Given the description of an element on the screen output the (x, y) to click on. 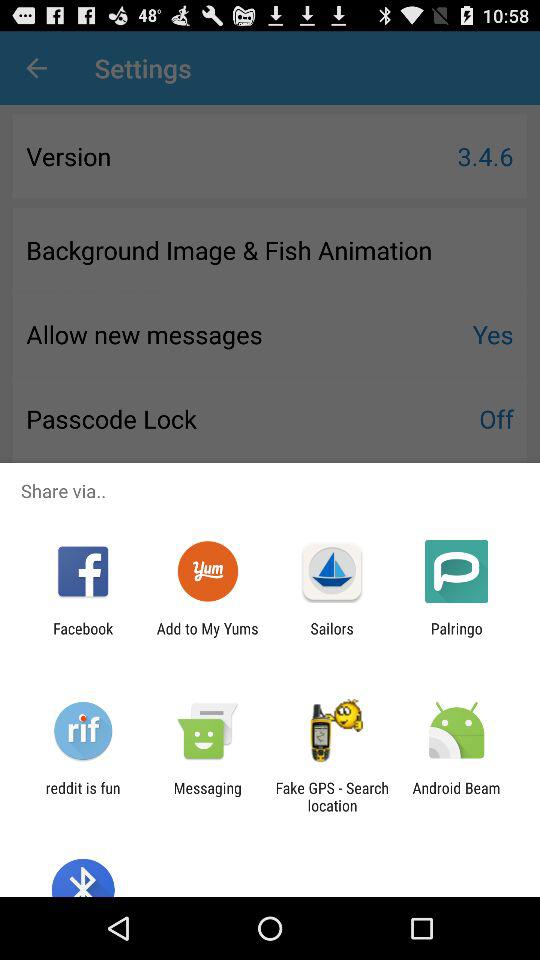
choose item next to the sailors icon (207, 637)
